Given the description of an element on the screen output the (x, y) to click on. 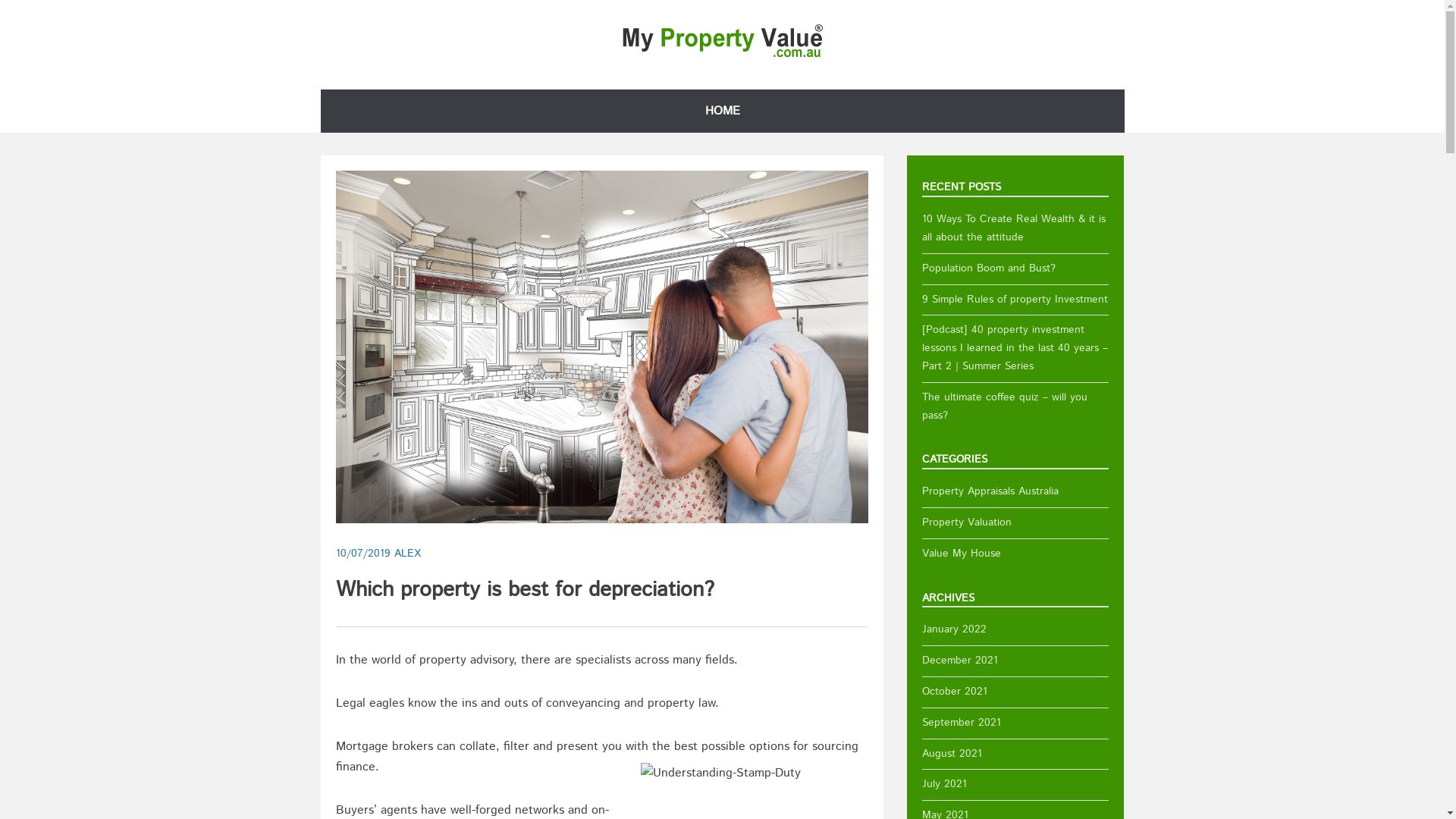
October 2021 Element type: text (954, 691)
My Property Value Element type: hover (721, 56)
Value My House Element type: text (961, 553)
Property Appraisals Australia Element type: text (990, 490)
January 2022 Element type: text (954, 629)
Property Valuation Element type: text (966, 522)
September 2021 Element type: text (961, 722)
ALEX Element type: text (407, 553)
July 2021 Element type: text (944, 783)
August 2021 Element type: text (952, 753)
10 Ways To Create Real Wealth & it is all about the attitude Element type: text (1013, 227)
Population Boom and Bust? Element type: text (988, 268)
Skip to content Element type: text (320, 88)
December 2021 Element type: text (959, 660)
HOME Element type: text (722, 111)
10/07/2019 Element type: text (362, 553)
9 Simple Rules of property Investment Element type: text (1014, 299)
MY PROPERTY VALUE Element type: text (438, 86)
